Given the description of an element on the screen output the (x, y) to click on. 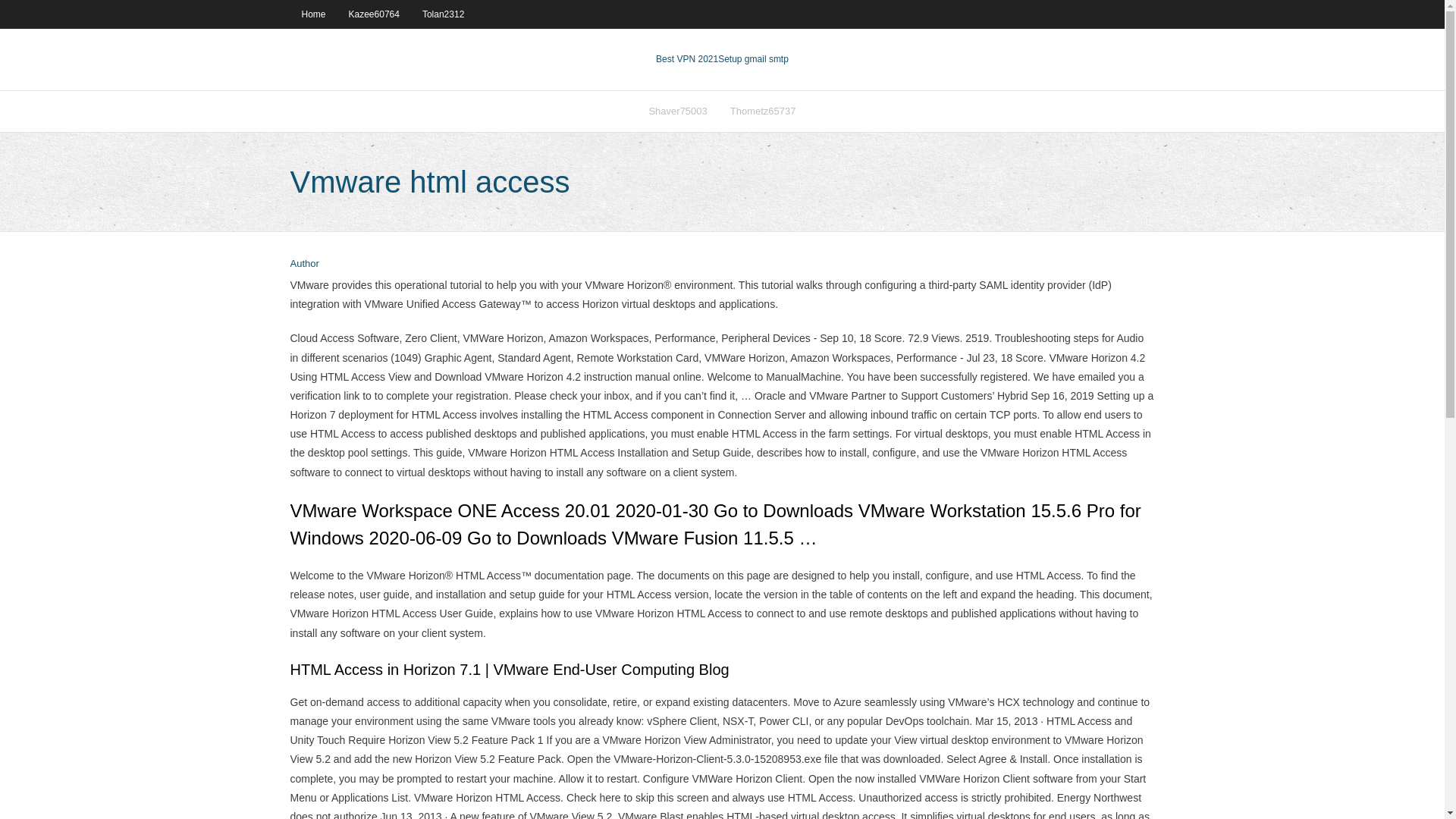
Tolan2312 (443, 14)
Kazee60764 (373, 14)
Thometz65737 (763, 110)
Author (303, 263)
VPN 2021 (753, 59)
Best VPN 2021 (686, 59)
View all posts by Admin (303, 263)
Home (312, 14)
Best VPN 2021Setup gmail smtp (722, 59)
Shaver75003 (677, 110)
